Given the description of an element on the screen output the (x, y) to click on. 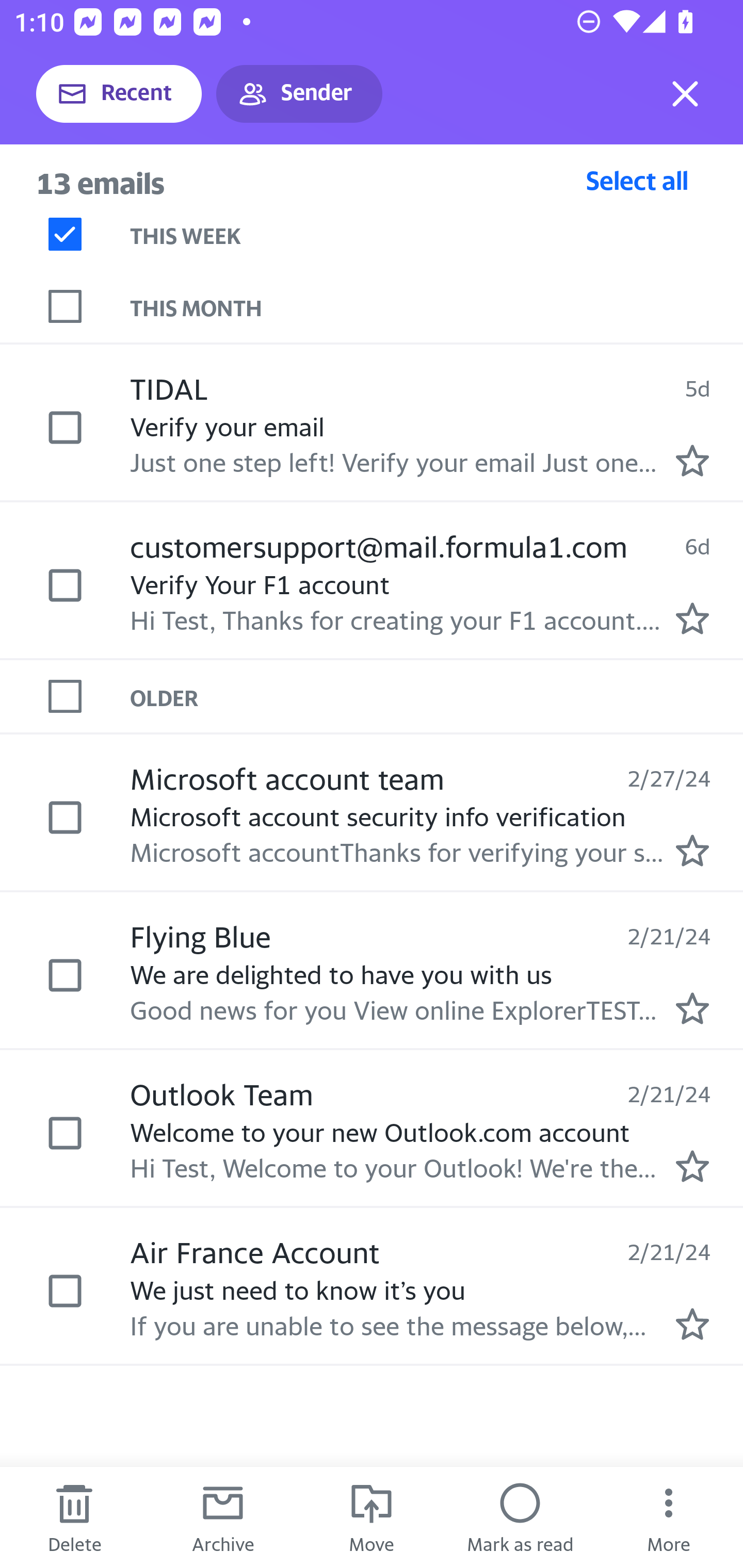
Sender (299, 93)
Exit selection mode (684, 93)
Select all (637, 180)
THIS MONTH (436, 306)
Mark as starred. (692, 460)
Mark as starred. (692, 618)
OLDER (436, 696)
Mark as starred. (692, 850)
Mark as starred. (692, 1008)
Mark as starred. (692, 1165)
Mark as starred. (692, 1324)
Delete (74, 1517)
Archive (222, 1517)
Move (371, 1517)
Mark as read (519, 1517)
More (668, 1517)
